Given the description of an element on the screen output the (x, y) to click on. 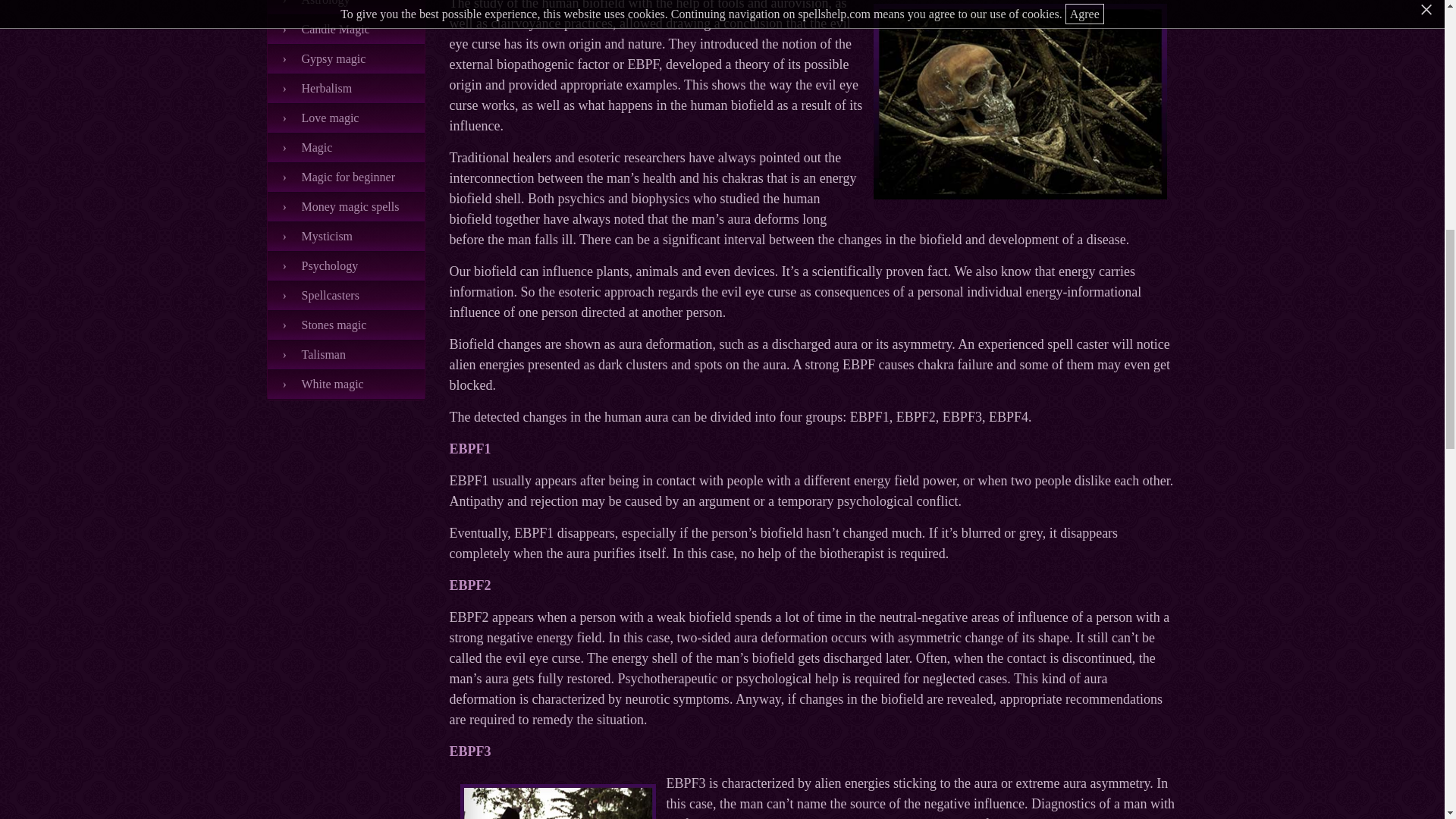
Mysticism (345, 236)
Money magic spells (345, 206)
Astrology (345, 7)
Evil eye curse ritual with scull (1020, 101)
Witch casting Evil eye curse (557, 801)
Magic (345, 147)
Herbalism (345, 89)
Candle Magic (345, 30)
Love magic (345, 118)
Magic for beginner (345, 177)
